Given the description of an element on the screen output the (x, y) to click on. 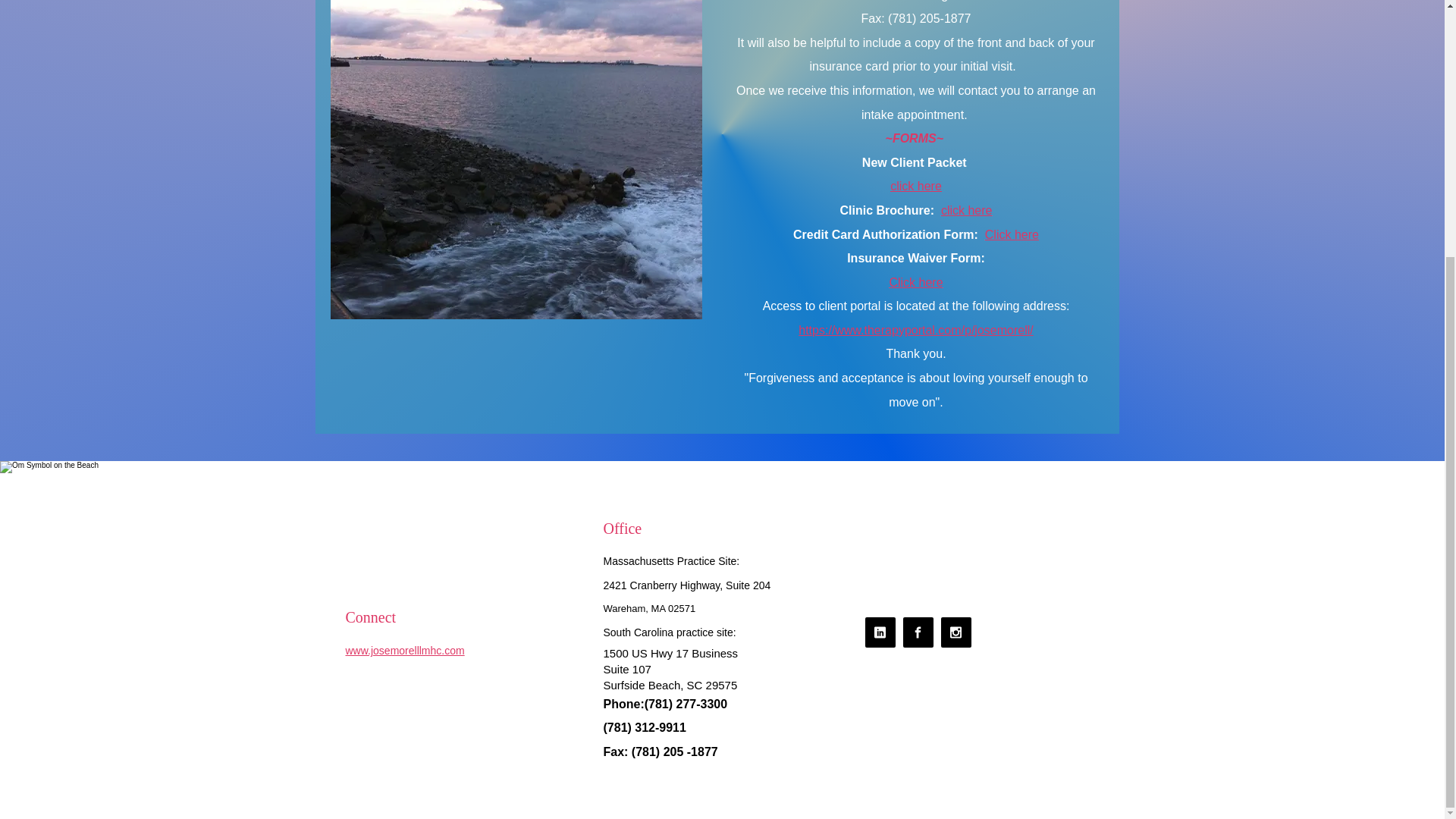
click here (915, 185)
www.josemorelllmhc.com (405, 650)
